Given the description of an element on the screen output the (x, y) to click on. 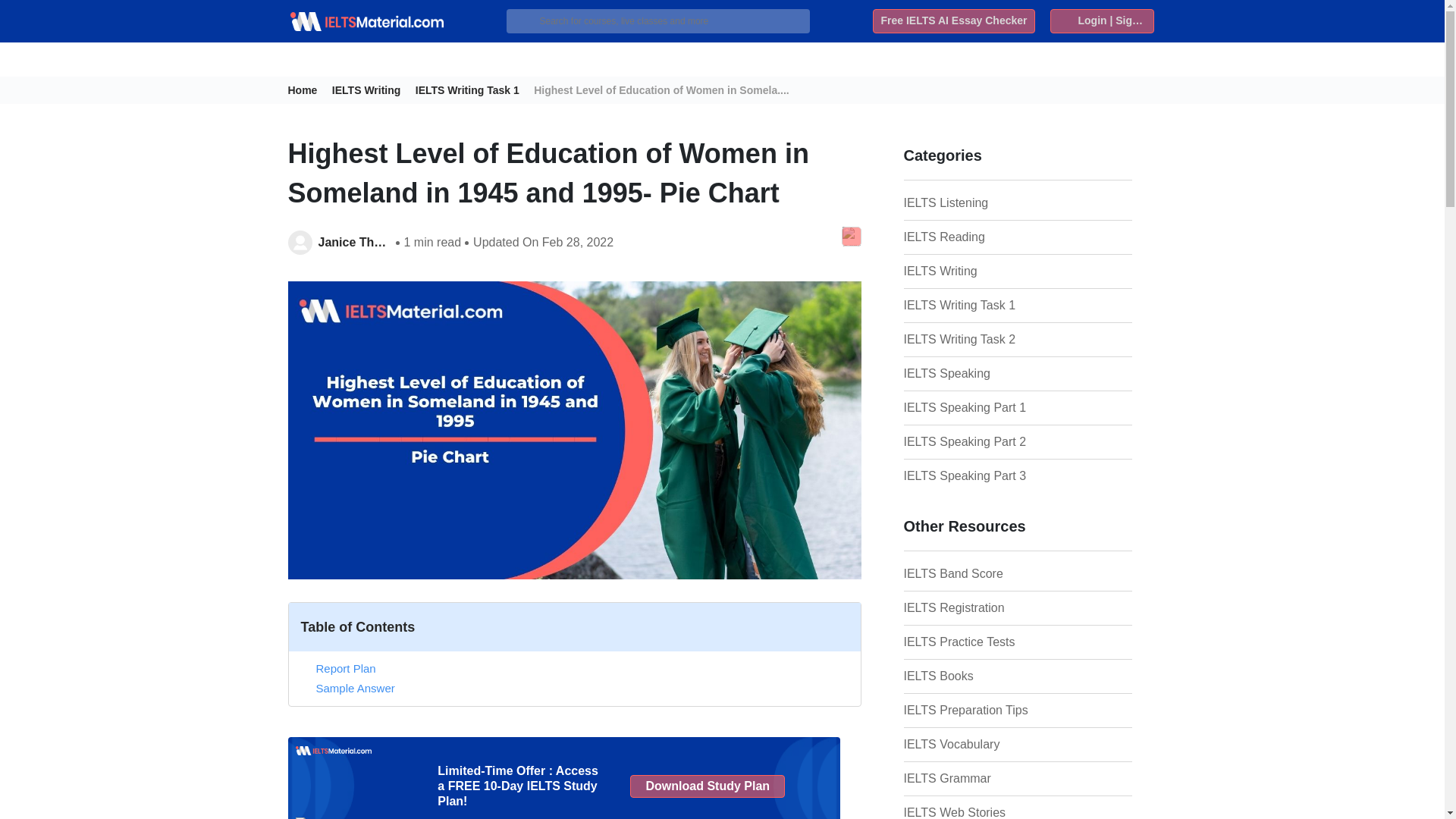
IELTS Practice Tests (979, 642)
IELTS Vocabulary (979, 744)
IELTS Vocabulary (979, 744)
IELTS Writing (979, 271)
Home (308, 90)
IELTS Grammar (979, 778)
Report Plan (345, 667)
IELTS Writing Task 2 (979, 339)
IELTS Books (979, 676)
IELTS Registration (979, 607)
